Given the description of an element on the screen output the (x, y) to click on. 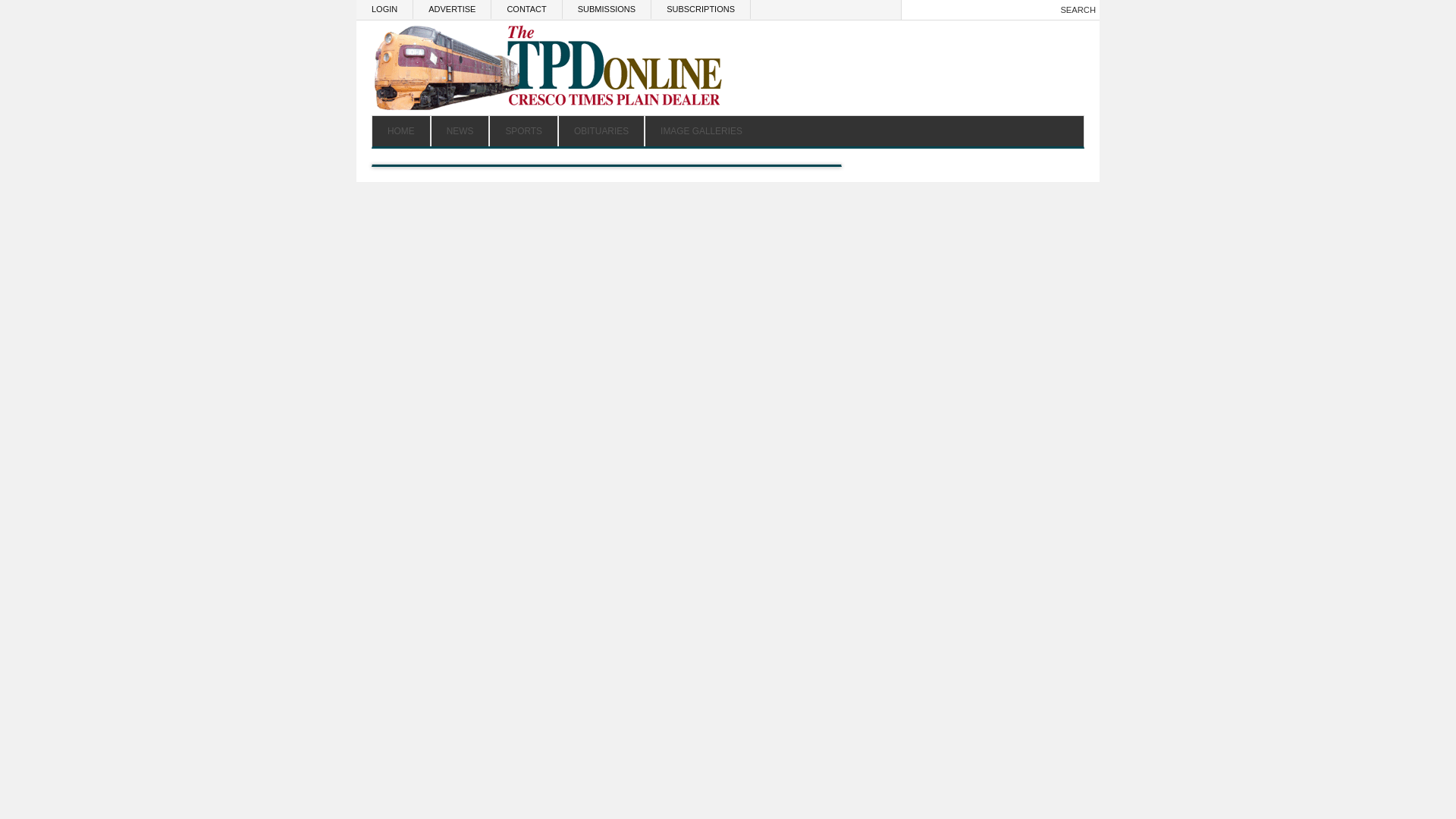
SUBSCRIPTIONS (700, 9)
Enter the terms you wish to search for. (976, 9)
NEWS (459, 131)
HOME (401, 131)
IMAGE GALLERIES (701, 131)
SPORTS (523, 131)
OBITUARIES (601, 131)
Obituaries (601, 131)
Sports (523, 131)
